Given the description of an element on the screen output the (x, y) to click on. 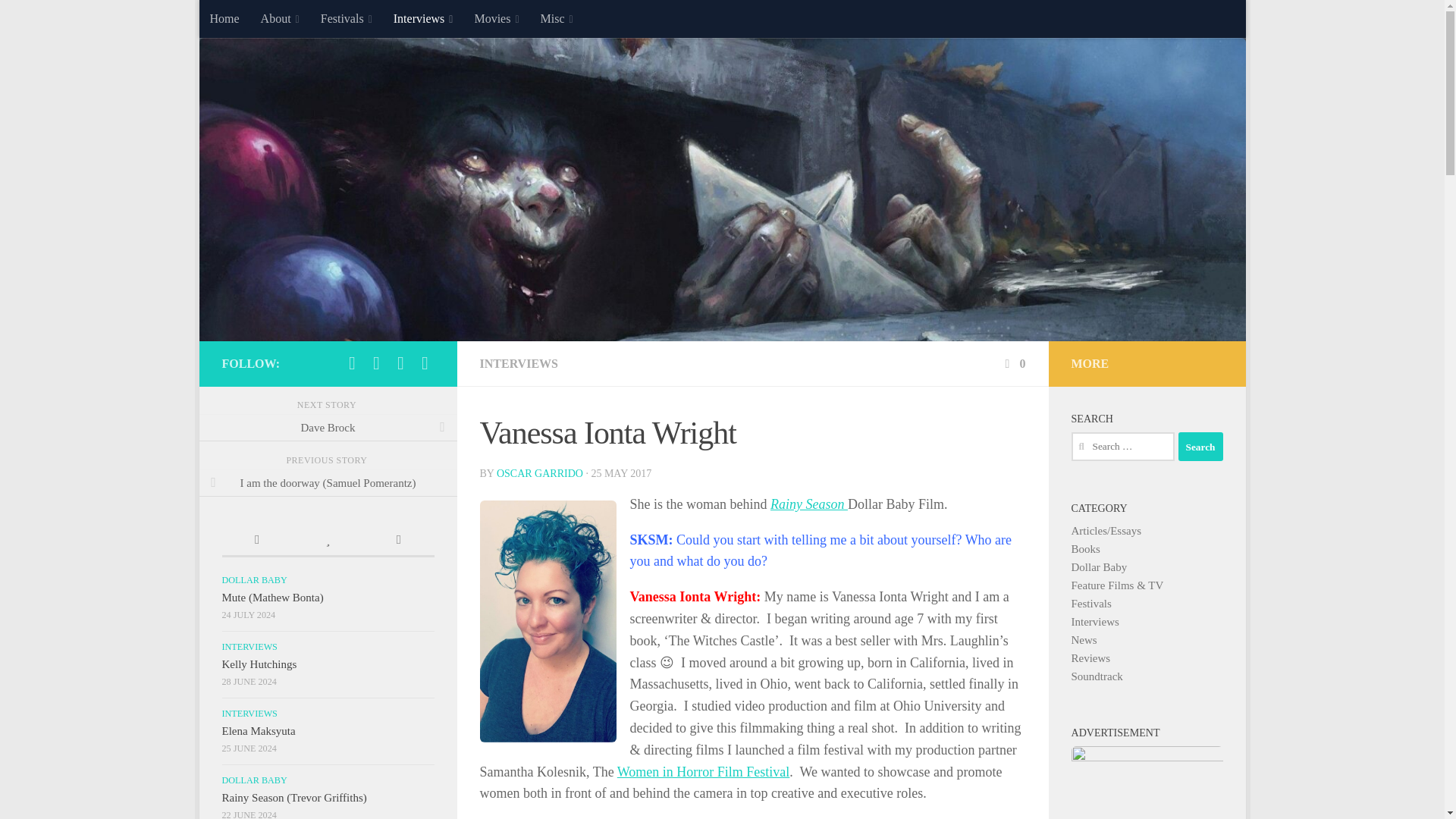
Skip to content (258, 20)
Festivals (346, 18)
About (280, 18)
Recent Posts (256, 540)
Follow us on Instagram (400, 362)
Search (1200, 446)
Interviews (423, 18)
Volg ons op Linkedin (423, 362)
Movies (496, 18)
Search (1200, 446)
Posts by Oscar Garrido (539, 473)
Follow us on facebook (351, 362)
Popular Posts (327, 540)
Follow us on twitter (375, 362)
Recent Comments (397, 540)
